Given the description of an element on the screen output the (x, y) to click on. 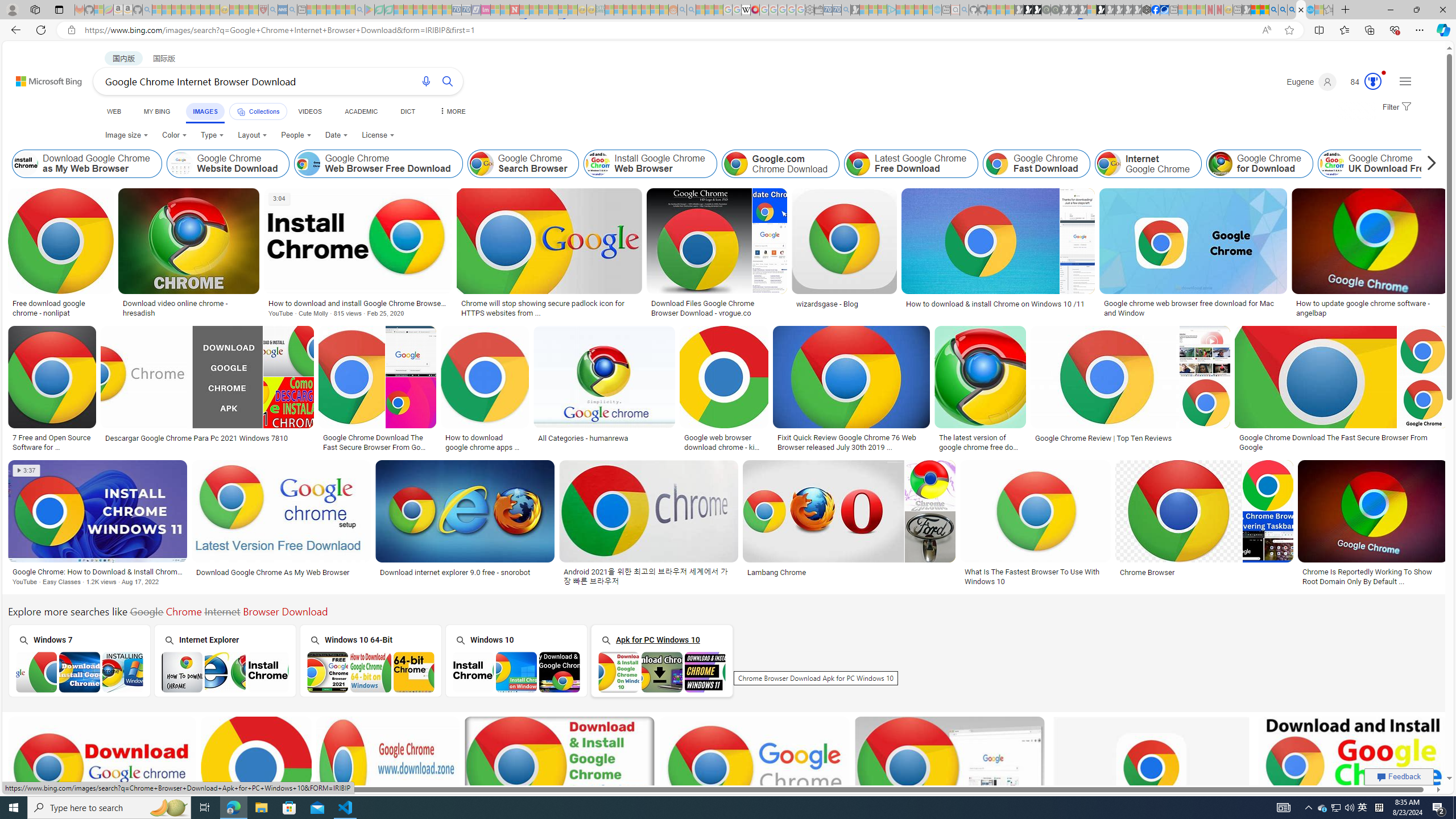
github - Search - Sleeping (964, 9)
New Report Confirms 2023 Was Record Hot | Watch - Sleeping (195, 9)
Expert Portfolios - Sleeping (636, 9)
VIDEOS (310, 111)
Google Chrome UK Download Free (1331, 163)
Bluey: Let's Play! - Apps on Google Play - Sleeping (369, 9)
